Given the description of an element on the screen output the (x, y) to click on. 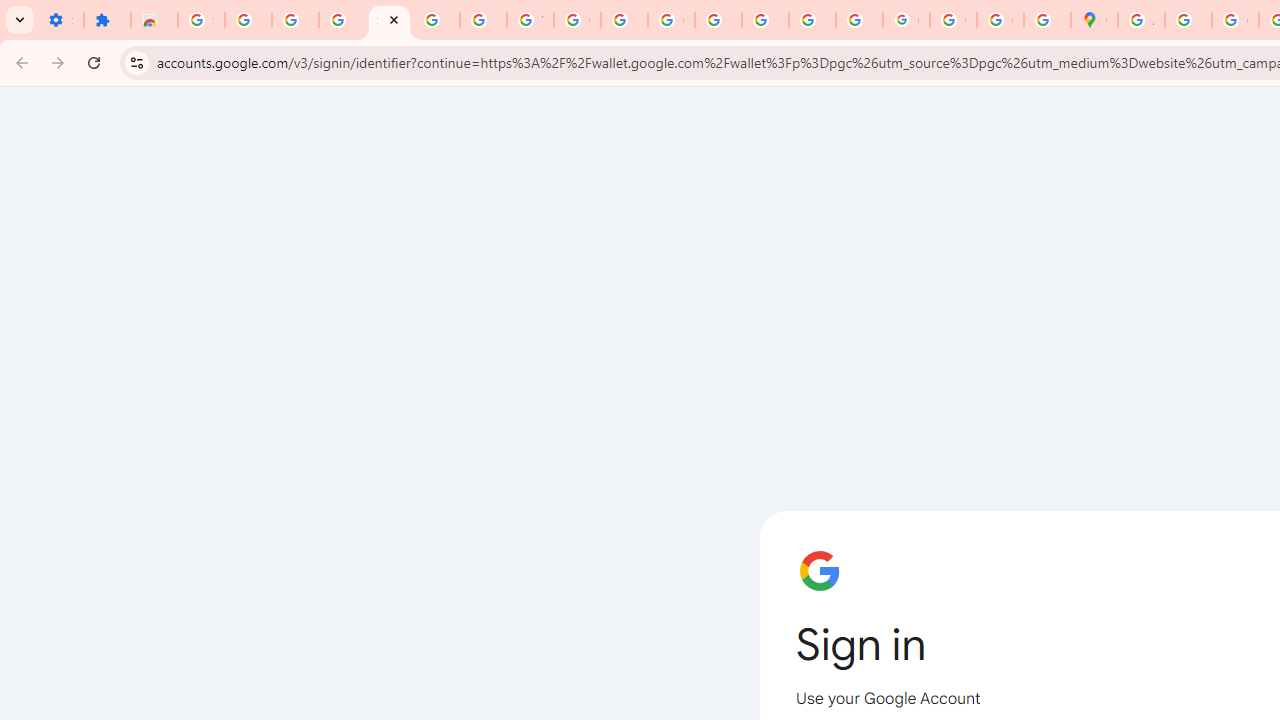
YouTube (530, 20)
Google Maps (1094, 20)
Delete photos & videos - Computer - Google Photos Help (248, 20)
